Given the description of an element on the screen output the (x, y) to click on. 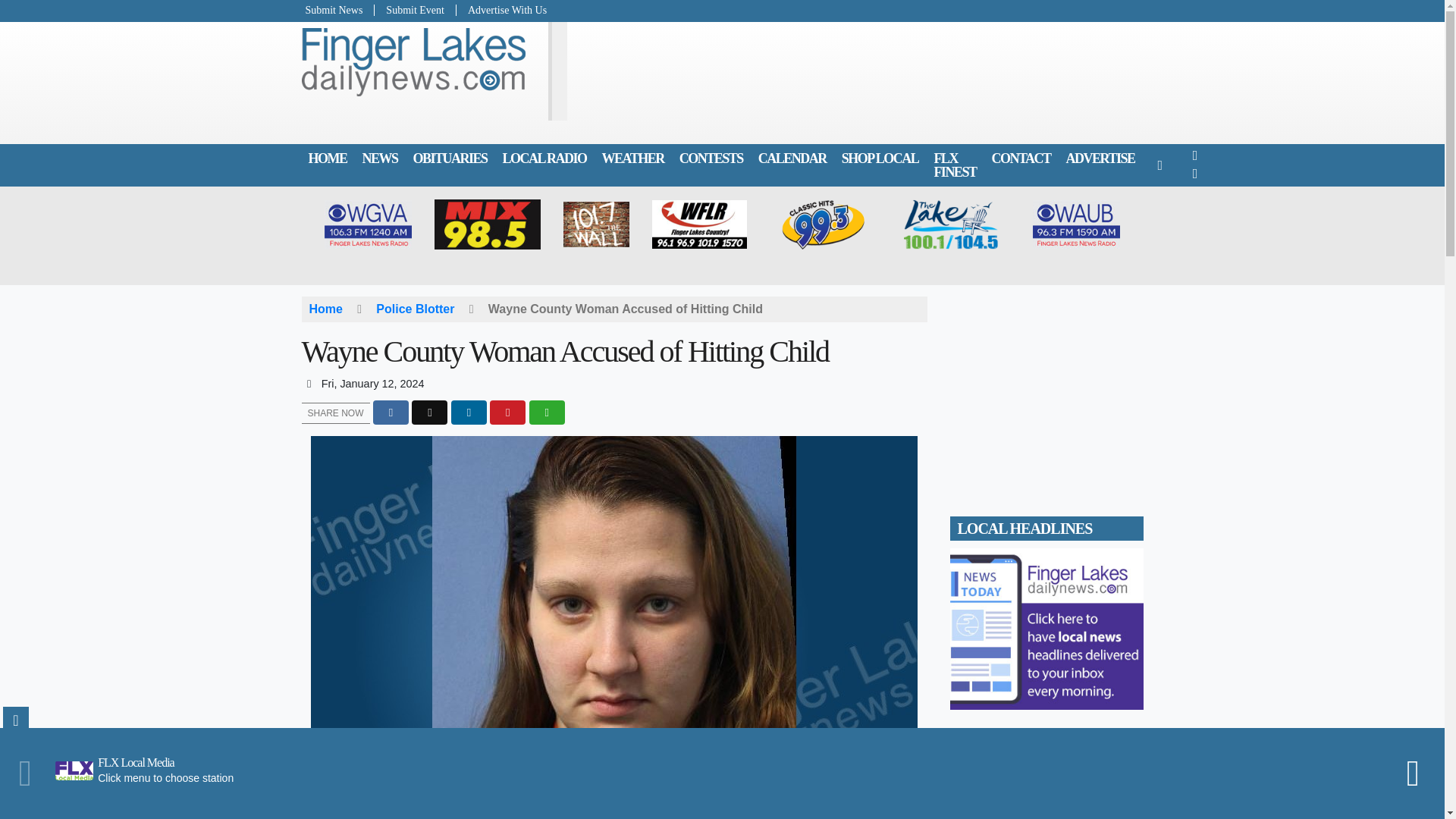
Submit Event (415, 9)
Follow us on X (1194, 173)
Advertise With Us (502, 9)
Submit News (338, 9)
Follow us on Facebook (1194, 155)
Share to Facebook (390, 412)
